Given the description of an element on the screen output the (x, y) to click on. 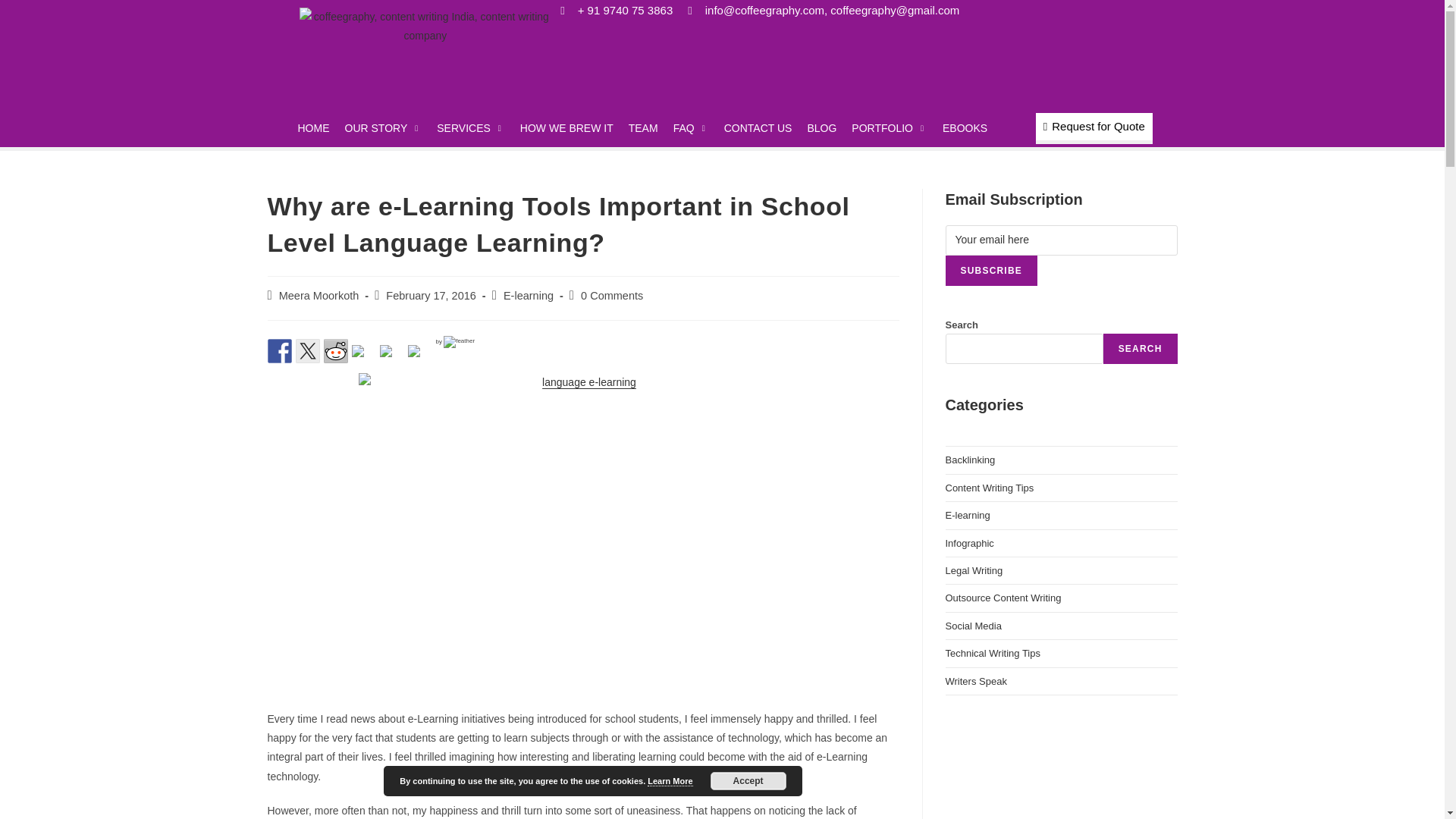
Share by email (413, 350)
Share on Facebook (278, 351)
Share on Reddit (335, 351)
OUR STORY (382, 127)
HOME (312, 127)
Share on Linkedin (390, 356)
Pin it with Pinterest (363, 356)
Your email here (1060, 240)
SERVICES (470, 127)
Posts by Meera Moorkoth (319, 295)
